Given the description of an element on the screen output the (x, y) to click on. 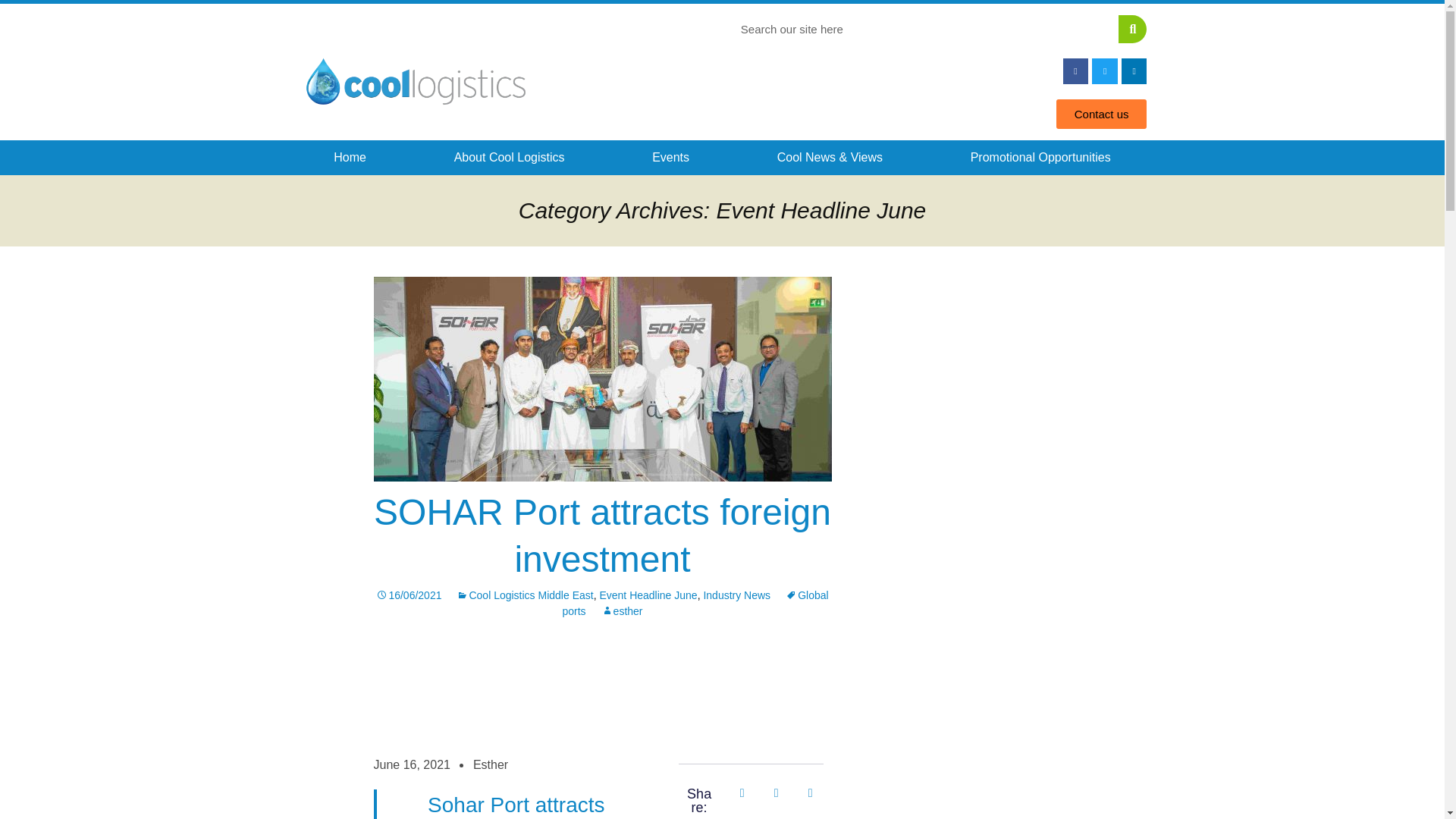
View all posts by esther (622, 611)
About Cool Logistics (509, 157)
Event Headline June (647, 594)
Promotional Opportunities (1040, 157)
Cool Logistics Middle East (524, 594)
SOHAR Port attracts foreign investment (602, 535)
Contact us (1102, 113)
Home (349, 157)
Permalink to SOHAR Port attracts foreign investment (408, 594)
Events (670, 157)
